Given the description of an element on the screen output the (x, y) to click on. 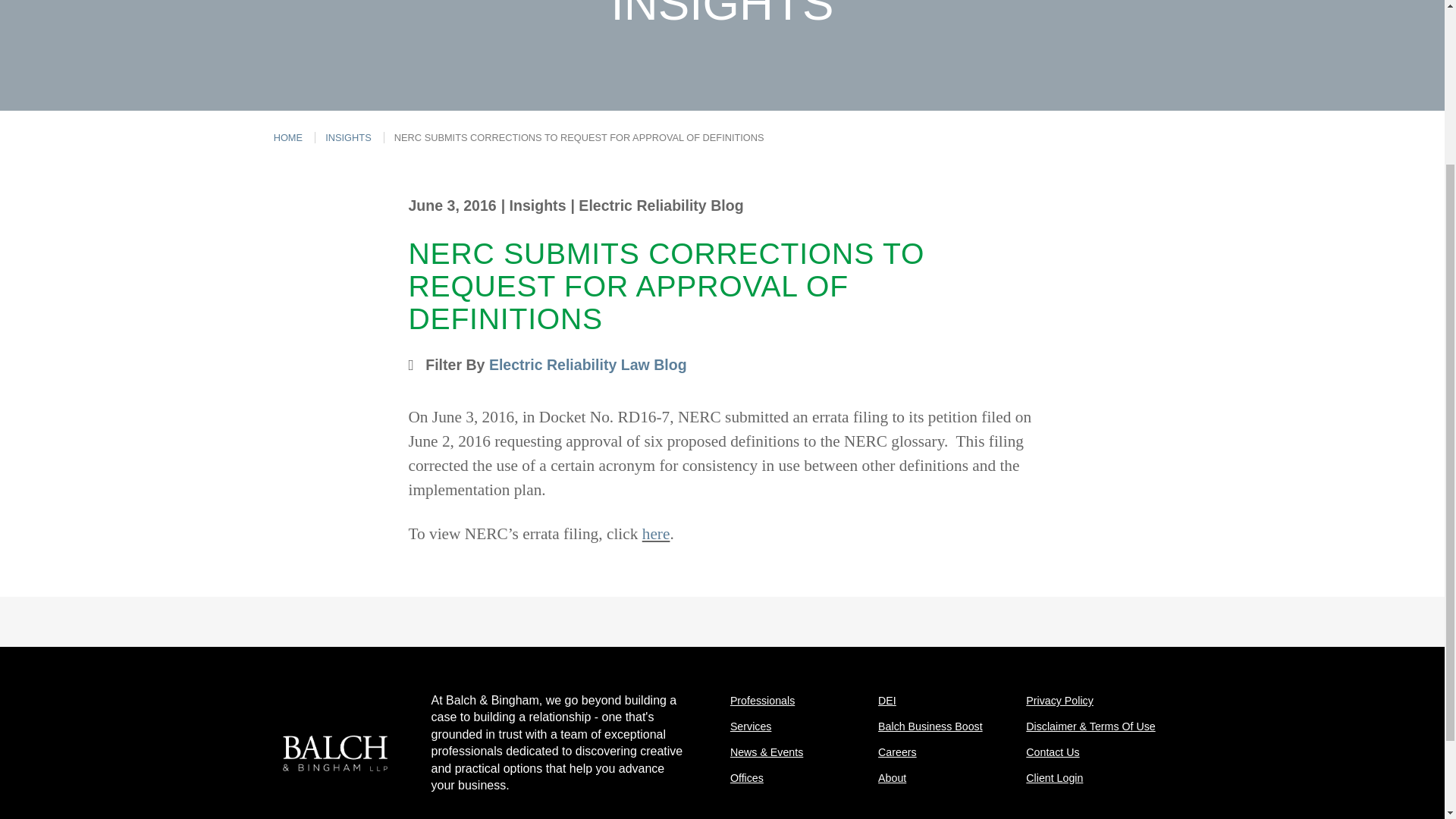
Electric Reliability Law Blog (588, 364)
HOME (287, 137)
INSIGHTS (347, 137)
